Given the description of an element on the screen output the (x, y) to click on. 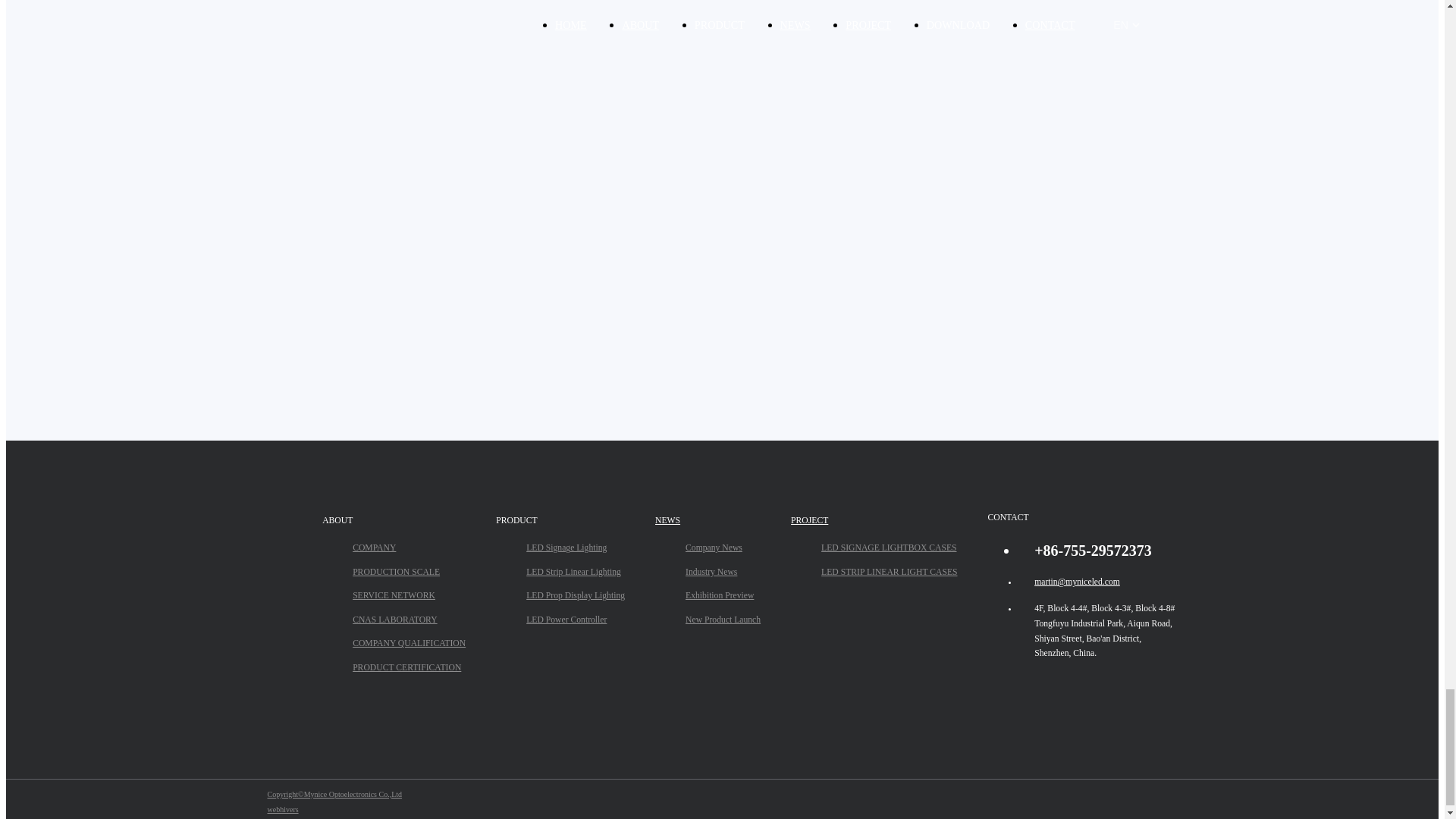
CNAS LABORATORY (408, 620)
SERVICE NETWORK (408, 595)
LED Signage Lighting (574, 548)
COMPANY (408, 548)
COMPANY QUALIFICATION (408, 643)
PRODUCTION SCALE (408, 572)
PRODUCT (560, 520)
LED Prop Display Lighting (574, 595)
LED Strip Linear Lighting (574, 572)
PRODUCT CERTIFICATION (408, 667)
